Given the description of an element on the screen output the (x, y) to click on. 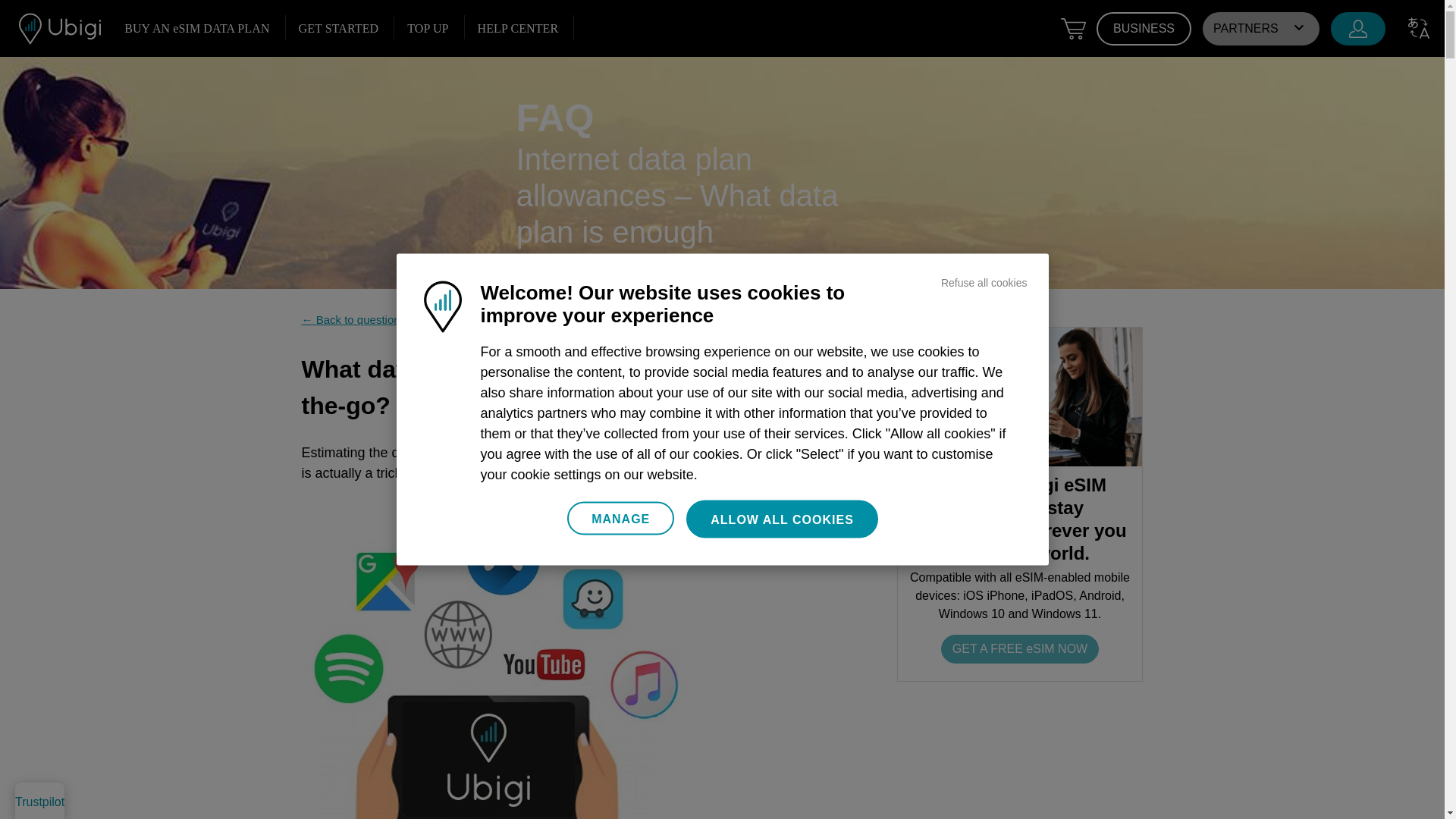
Refuse all cookies (983, 282)
TOP UP (427, 28)
BUY AN eSIM DATA PLAN (197, 28)
ALLOW ALL COOKIES (781, 519)
MANAGE (620, 518)
GET STARTED (338, 28)
HELP CENTER (517, 28)
